Given the description of an element on the screen output the (x, y) to click on. 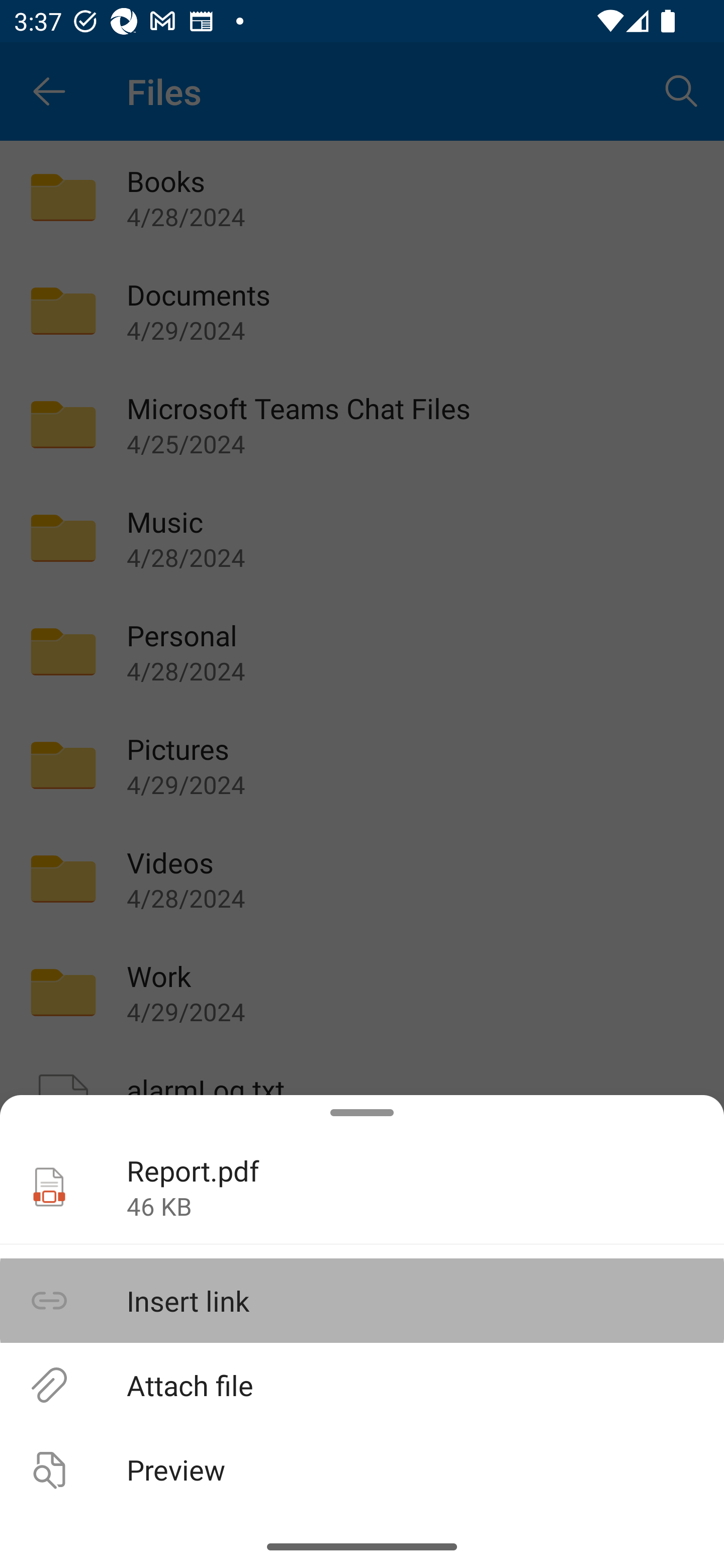
Insert link (362, 1300)
Attach file (362, 1384)
Preview (362, 1468)
